Given the description of an element on the screen output the (x, y) to click on. 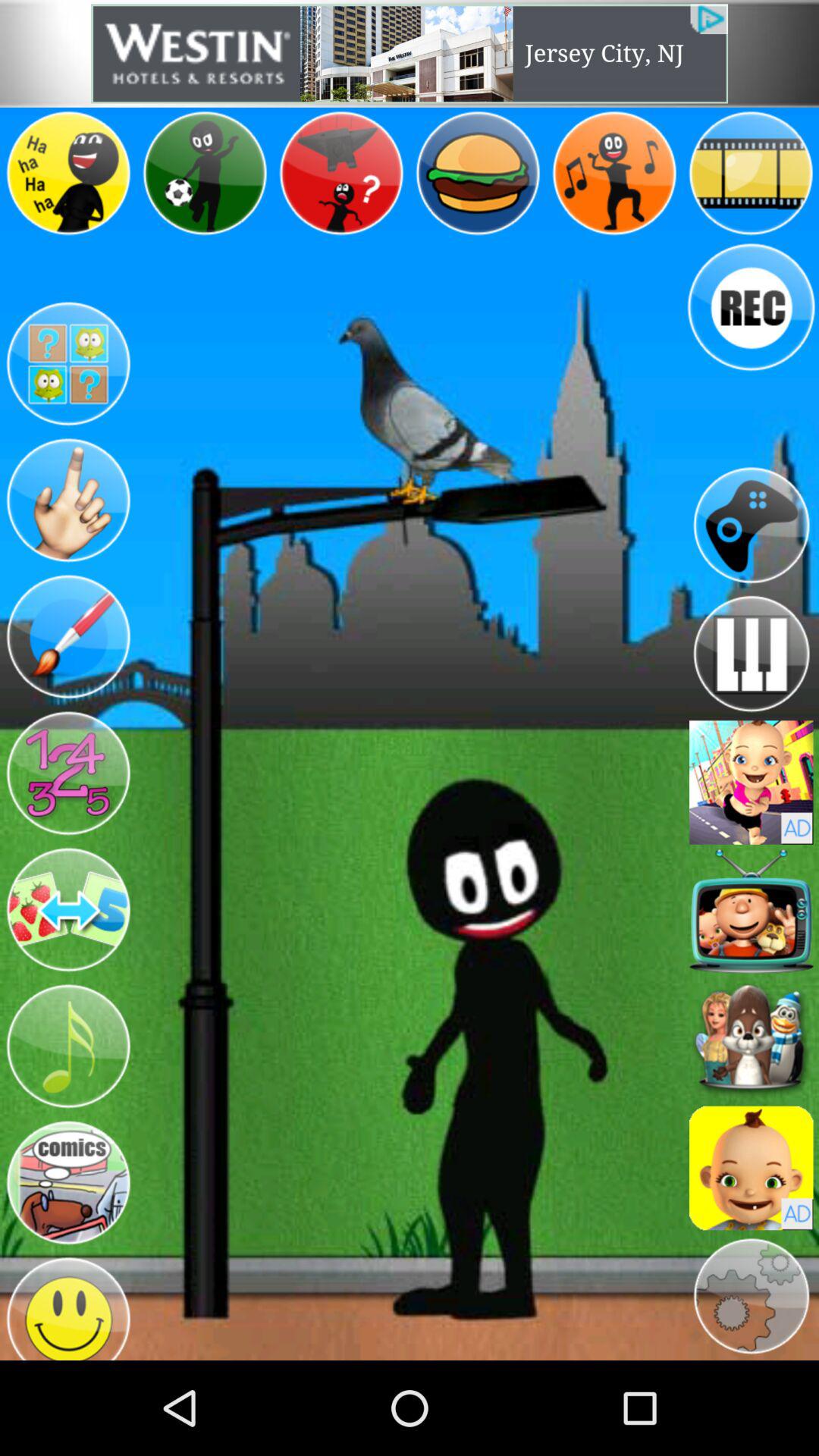
open music (68, 1046)
